Given the description of an element on the screen output the (x, y) to click on. 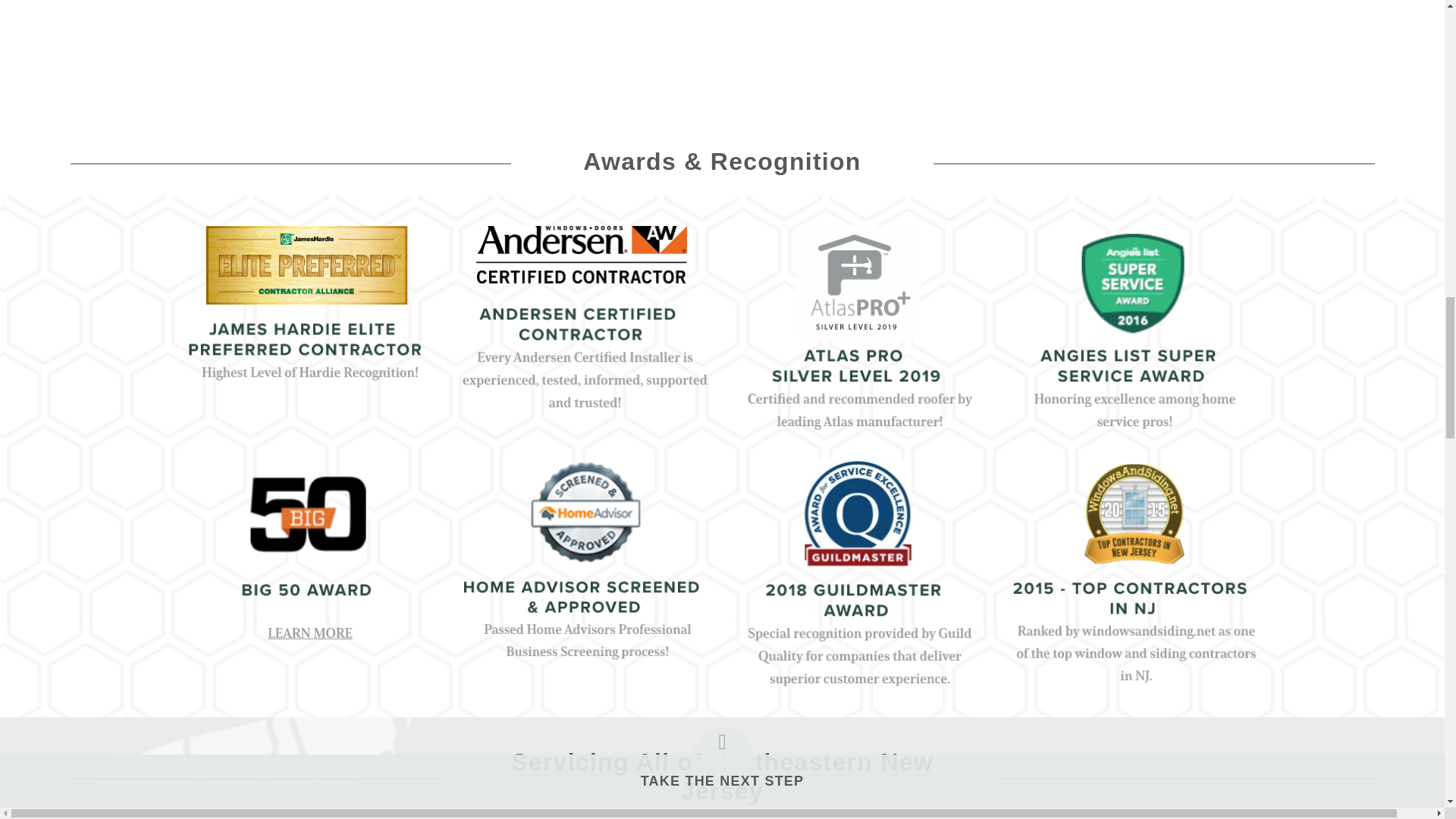
Group 180 (585, 560)
Group 179 (309, 550)
Group 178 (1134, 327)
Group 181 (858, 573)
Group 175 (585, 318)
Group 182 (1134, 571)
Group 176 (309, 314)
Group 177 (858, 327)
